Given the description of an element on the screen output the (x, y) to click on. 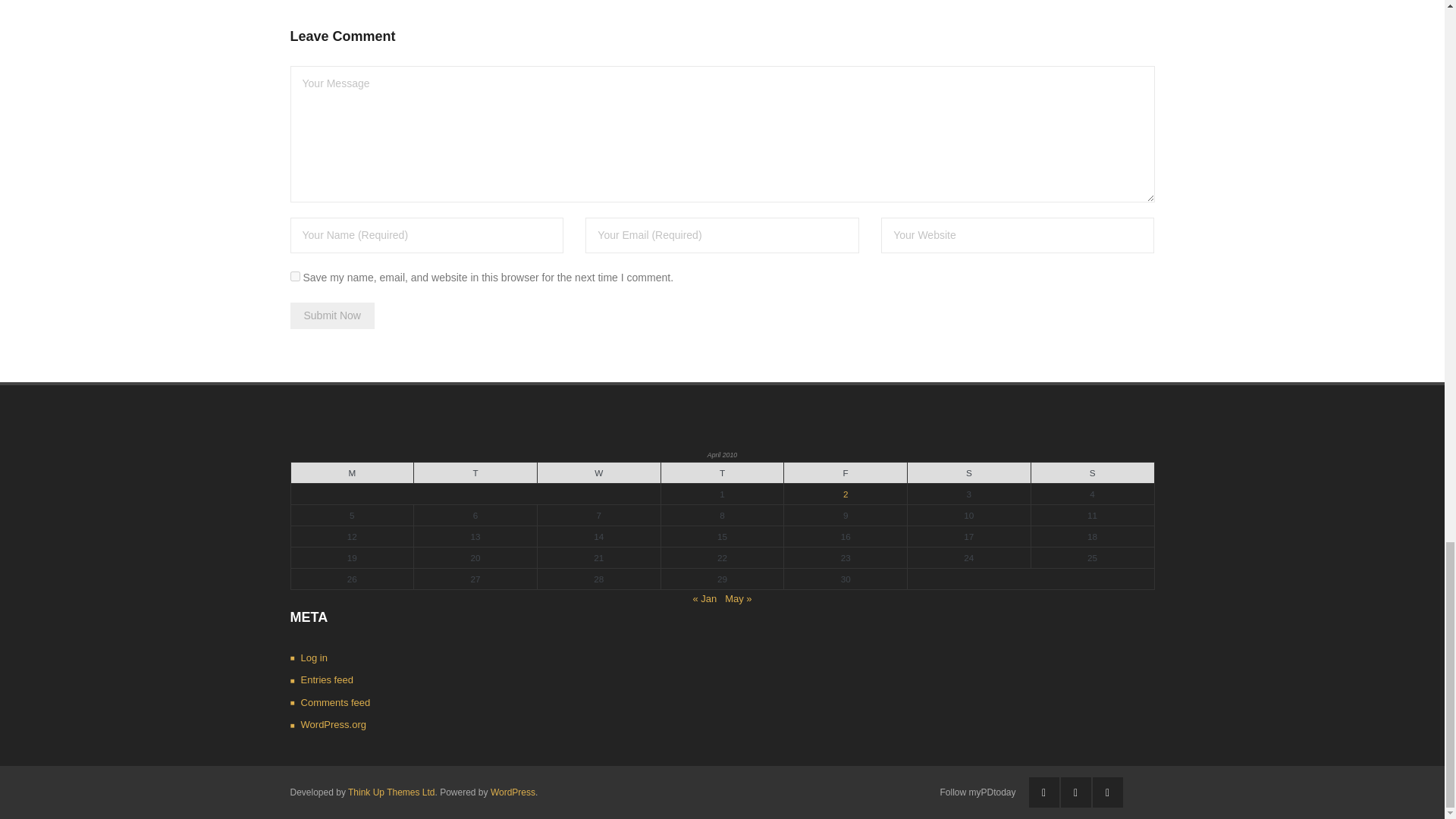
Tuesday (475, 473)
Submit Now (331, 315)
Submit Now (331, 315)
Sunday (1092, 473)
yes (294, 276)
Wednesday (599, 473)
Saturday (968, 473)
Thursday (722, 473)
Monday (351, 473)
Friday (845, 473)
